Given the description of an element on the screen output the (x, y) to click on. 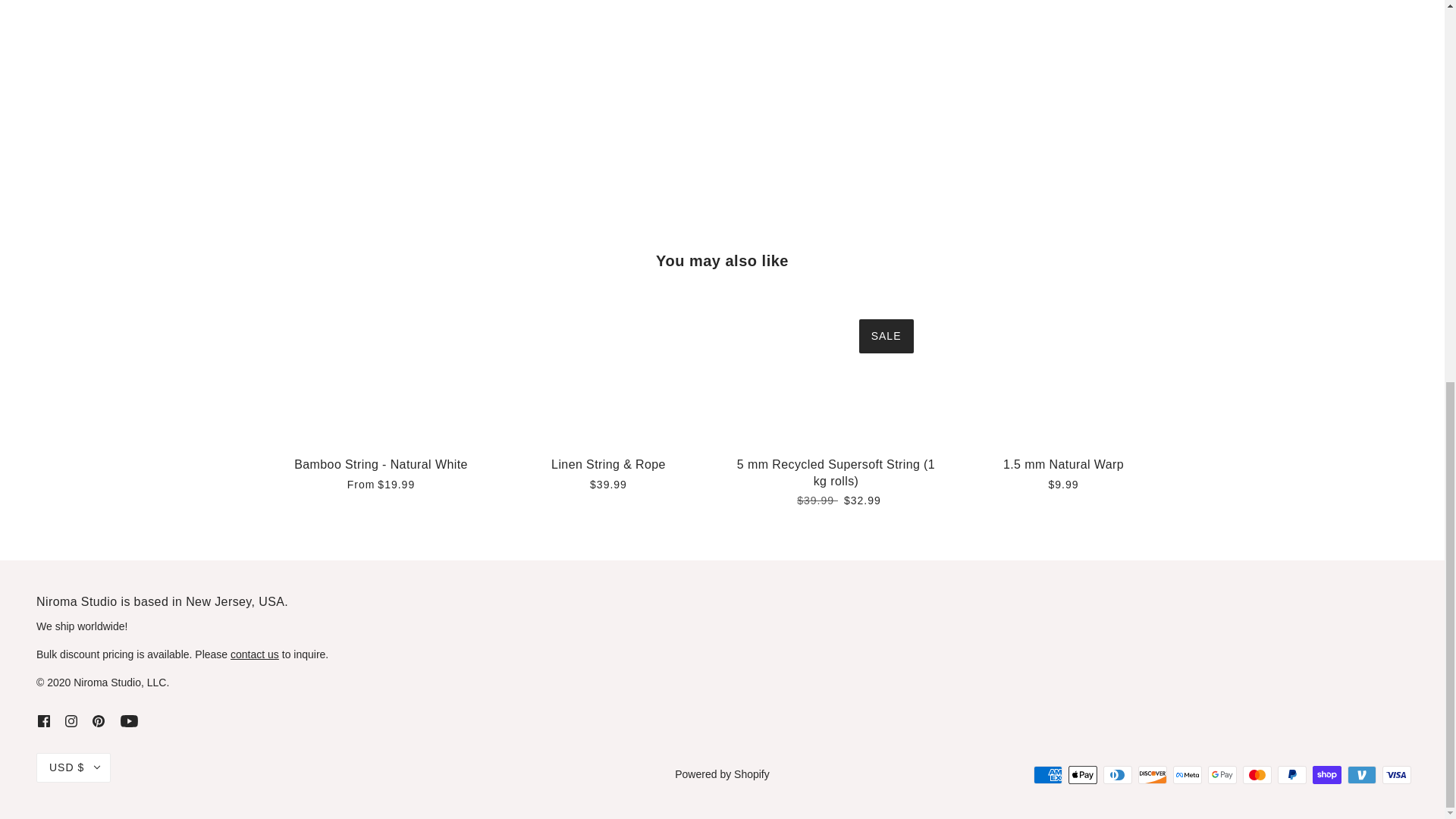
Google Pay (1222, 774)
PayPal (1292, 774)
American Express (1047, 774)
Discover (1152, 774)
Meta Pay (1187, 774)
Apple Pay (1082, 774)
Mastercard (1257, 774)
Contact Us (254, 654)
Diners Club (1117, 774)
